Given the description of an element on the screen output the (x, y) to click on. 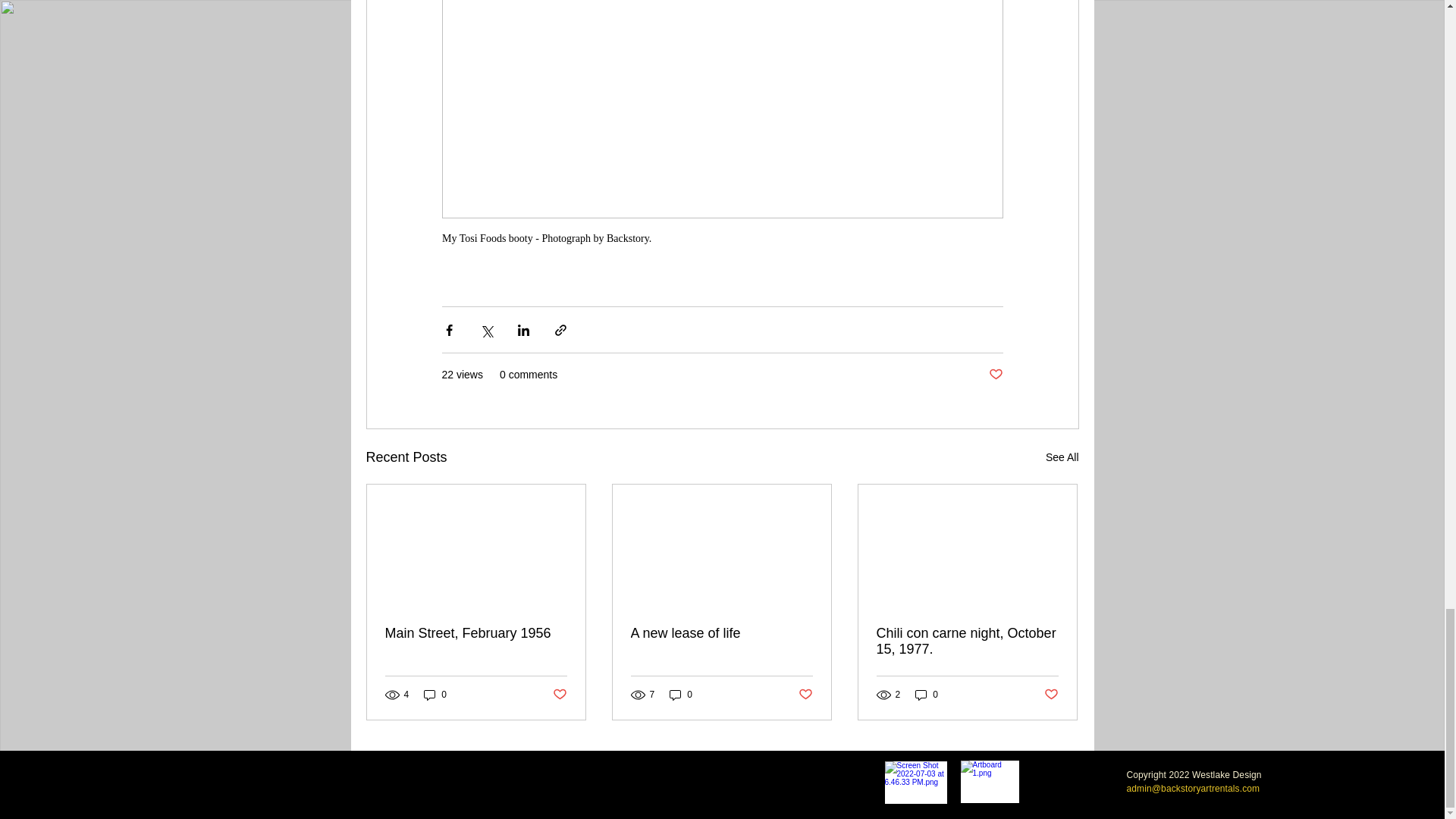
Chili con carne night, October 15, 1977. (967, 641)
Post not marked as liked (804, 694)
A new lease of life (721, 633)
0 (926, 694)
0 (681, 694)
Post not marked as liked (558, 694)
Main Street, February 1956 (476, 633)
Post not marked as liked (995, 374)
See All (1061, 457)
0 (435, 694)
